Given the description of an element on the screen output the (x, y) to click on. 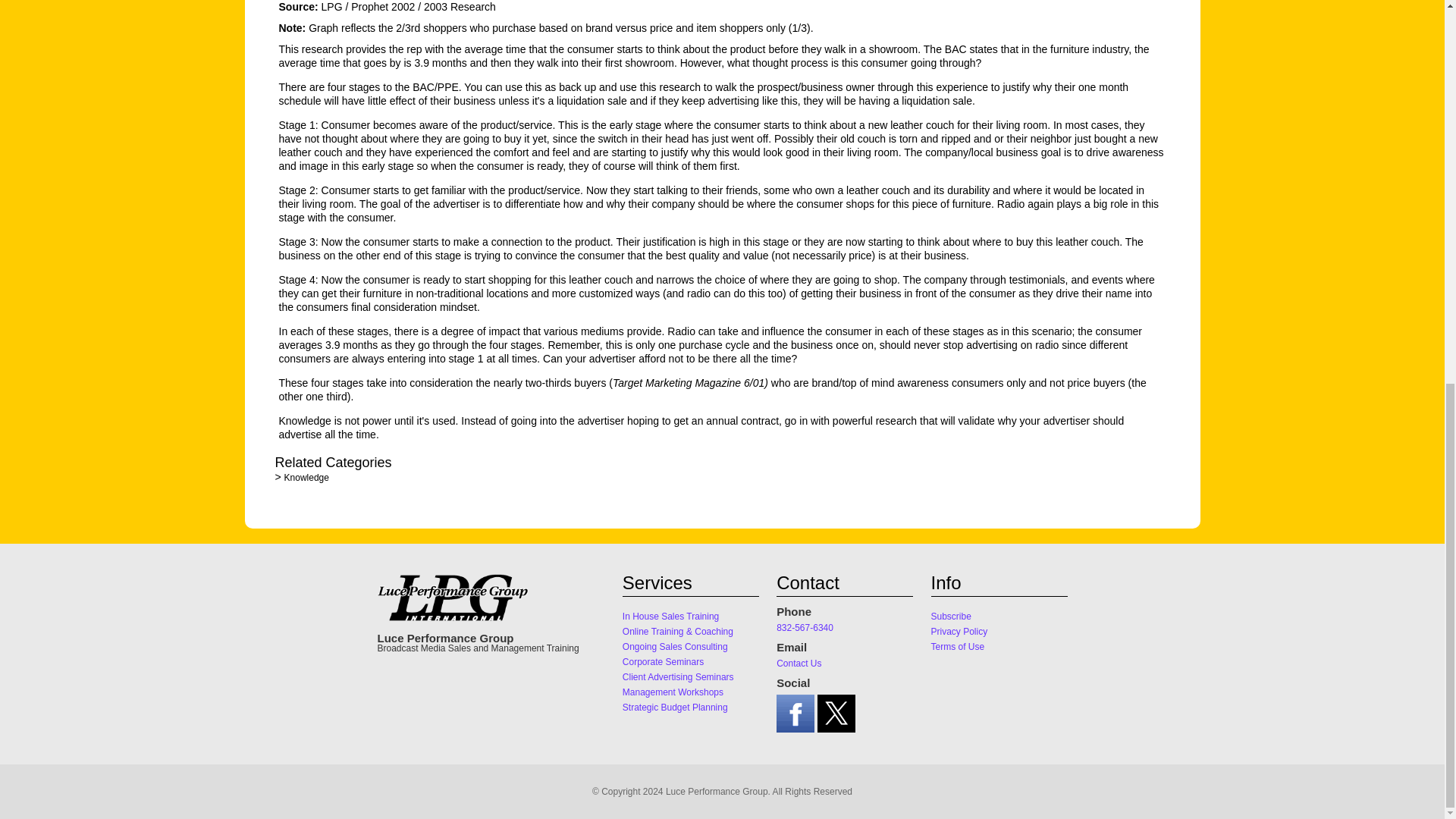
Terms of Use (958, 644)
In House Sales Training (671, 613)
Knowledge (306, 477)
Contact Us (798, 661)
Ongoing Sales Consulting (675, 644)
Client Advertising Seminars (678, 674)
Corporate Seminars (663, 659)
Subscribe (951, 613)
Management Workshops (673, 689)
832-567-6340 (804, 625)
